Given the description of an element on the screen output the (x, y) to click on. 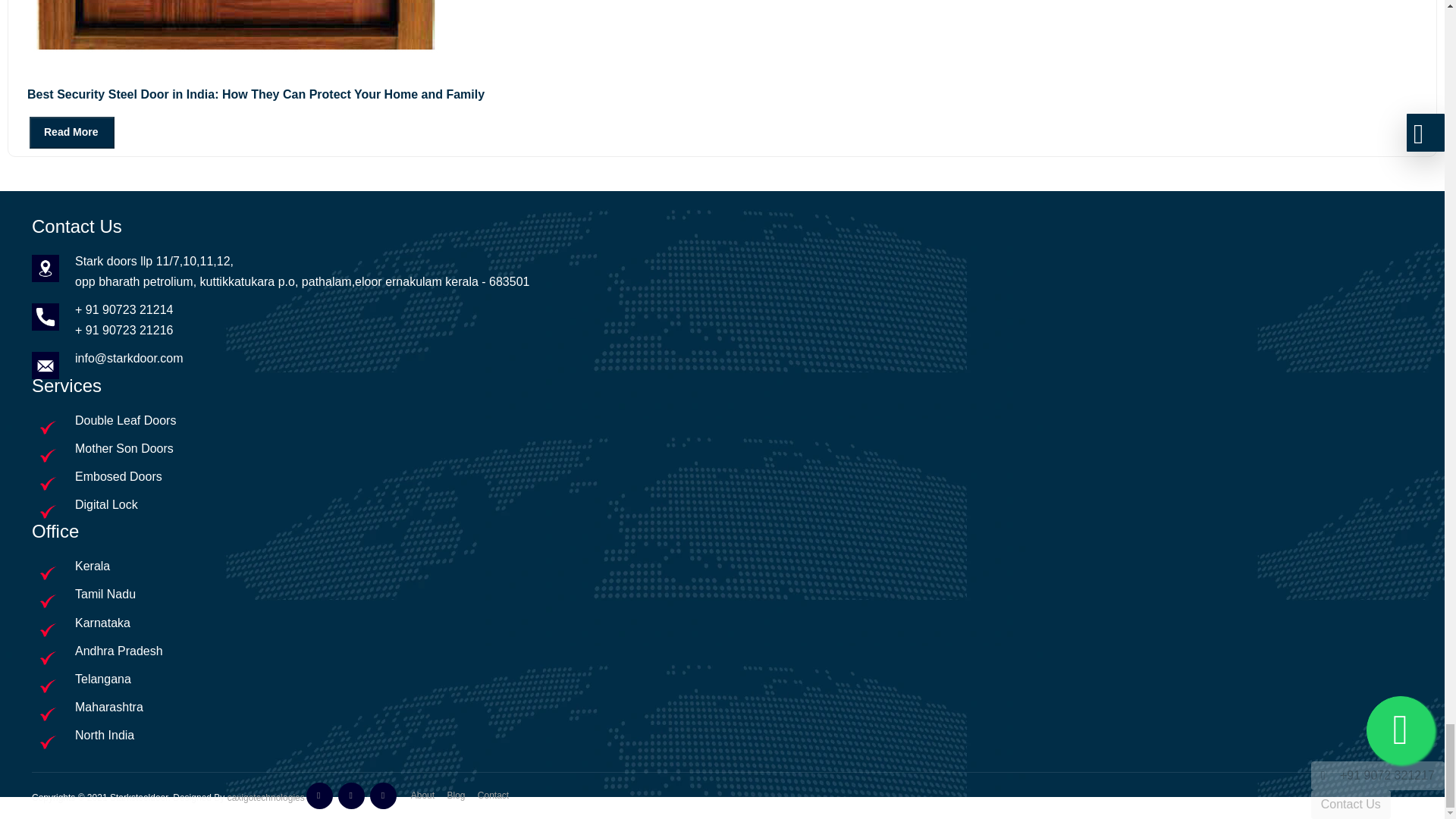
Tamil Nadu (105, 594)
Kerala (722, 566)
Read More (72, 132)
Read More (61, 131)
